Given the description of an element on the screen output the (x, y) to click on. 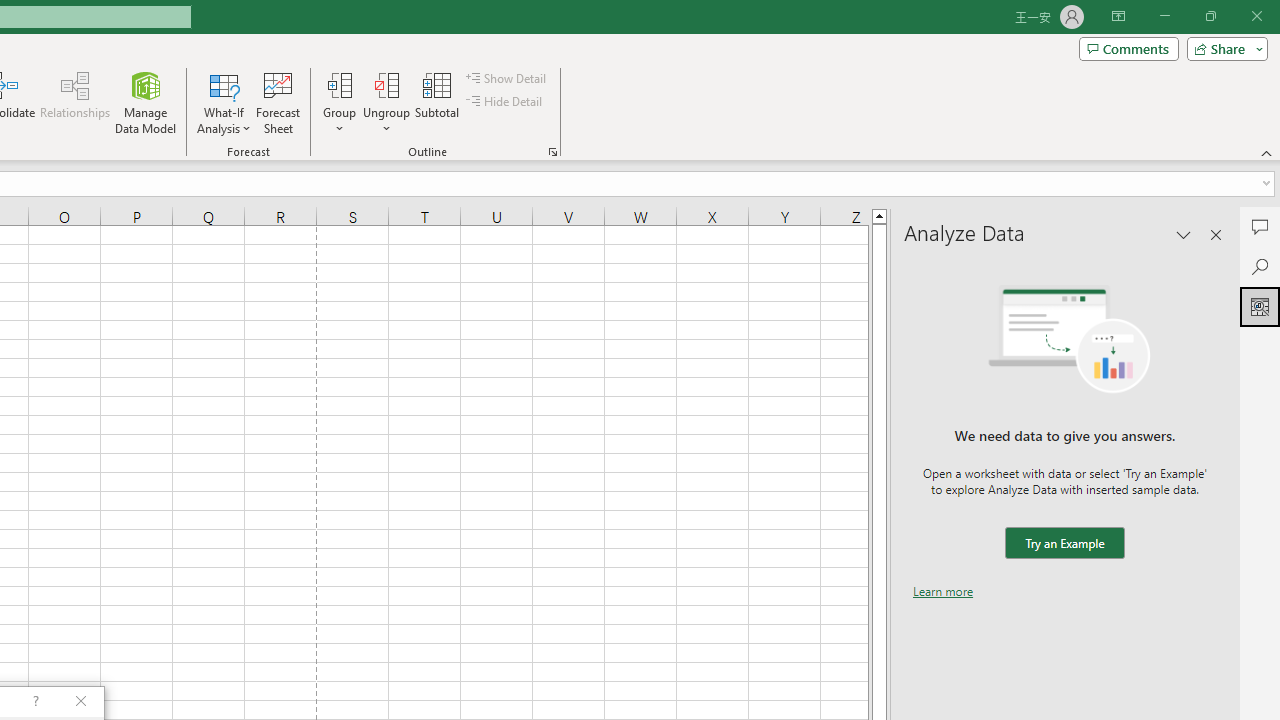
Forecast Sheet (278, 102)
We need data to give you answers. Try an Example (1064, 543)
Show Detail (507, 78)
Hide Detail (505, 101)
Search (1260, 266)
Analyze Data (1260, 306)
Relationships (75, 102)
Manage Data Model (145, 102)
Group and Outline Settings (552, 151)
Subtotal (437, 102)
